Given the description of an element on the screen output the (x, y) to click on. 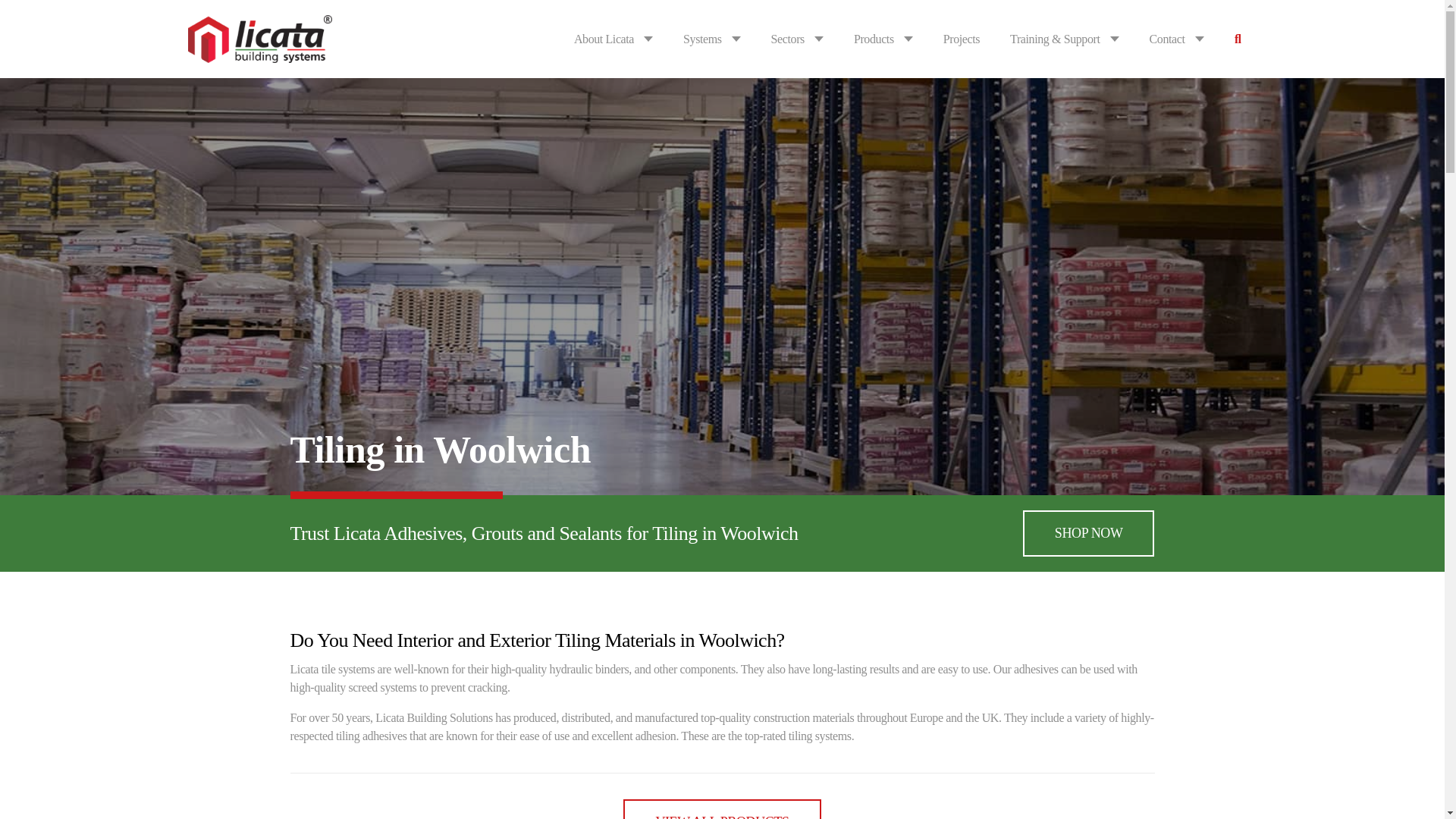
Systems (702, 39)
Products (873, 39)
Projects (961, 39)
Sectors (788, 39)
About Licata (603, 39)
Products (722, 809)
